Given the description of an element on the screen output the (x, y) to click on. 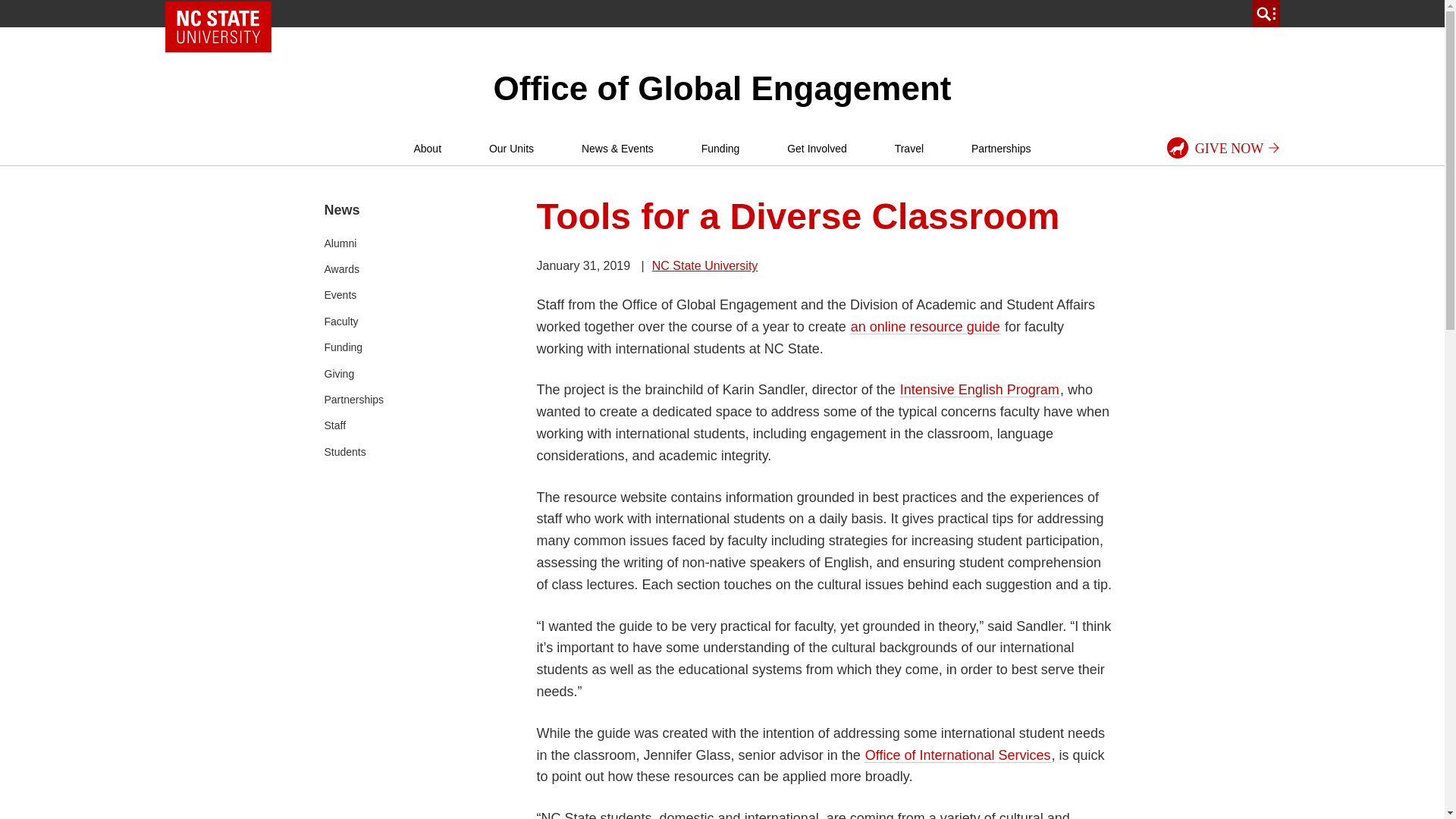
Office of Global Engagement (722, 88)
NC State Home (217, 26)
Posts by NC State University (705, 265)
Our Units (511, 148)
About (427, 148)
